Given the description of an element on the screen output the (x, y) to click on. 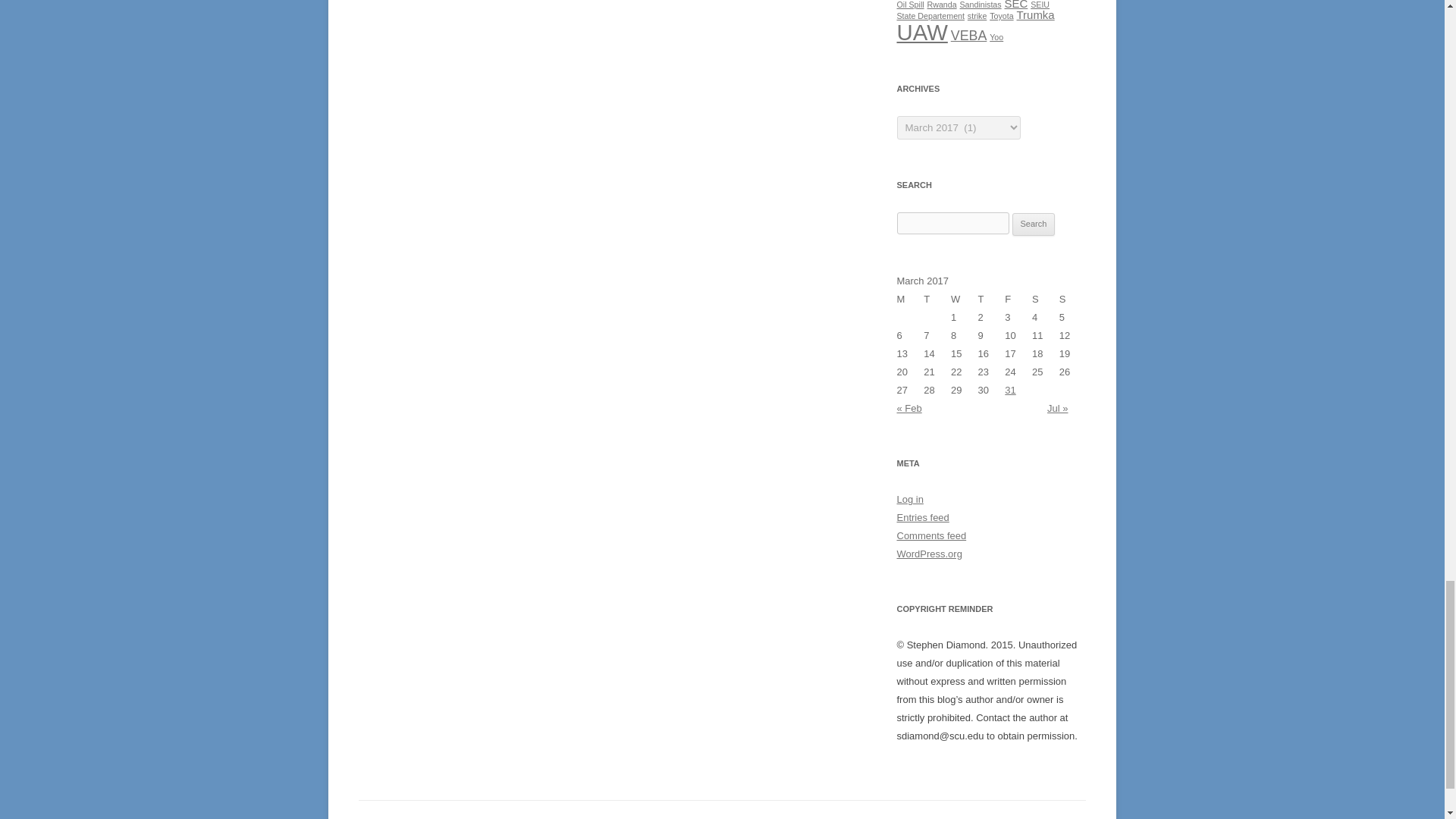
Search (1033, 223)
